Given the description of an element on the screen output the (x, y) to click on. 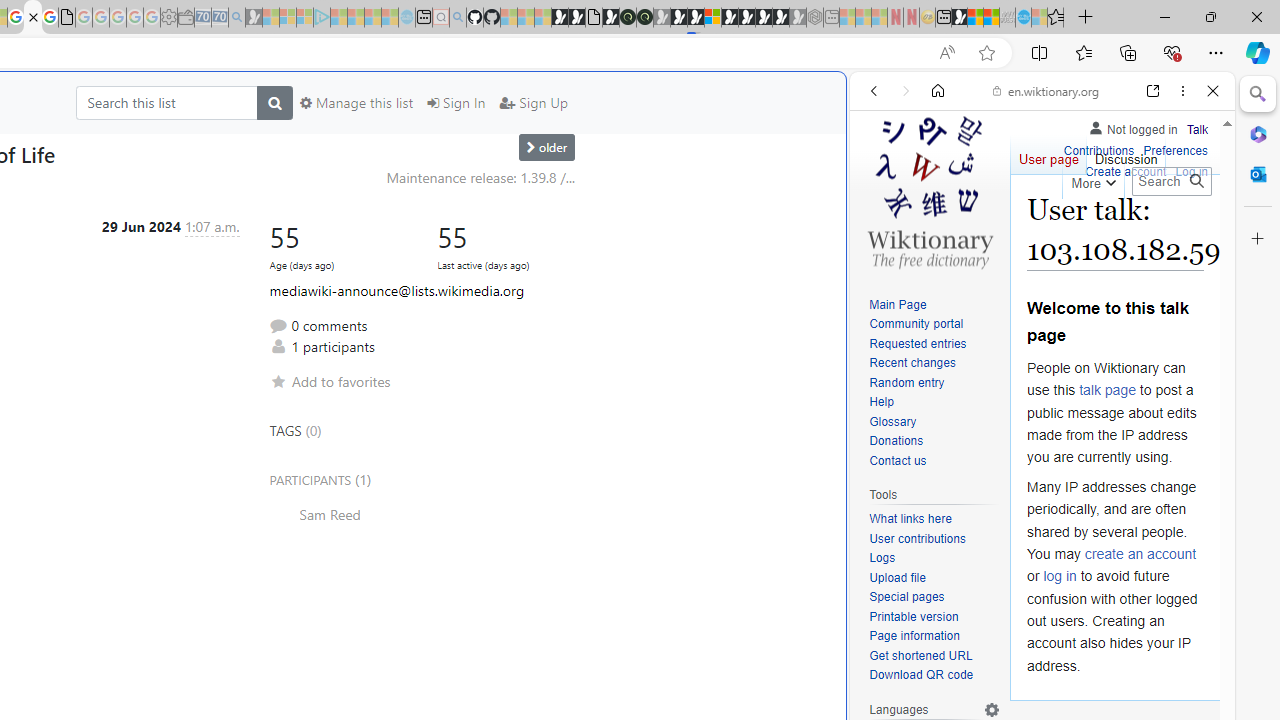
Recent changes (912, 362)
Close split screen (844, 102)
Download QR code (921, 675)
talk page (1107, 390)
Requested entries (917, 343)
User page (1048, 154)
Earth has six continents not seven, radical new study claims (991, 17)
Donations (896, 441)
